Given the description of an element on the screen output the (x, y) to click on. 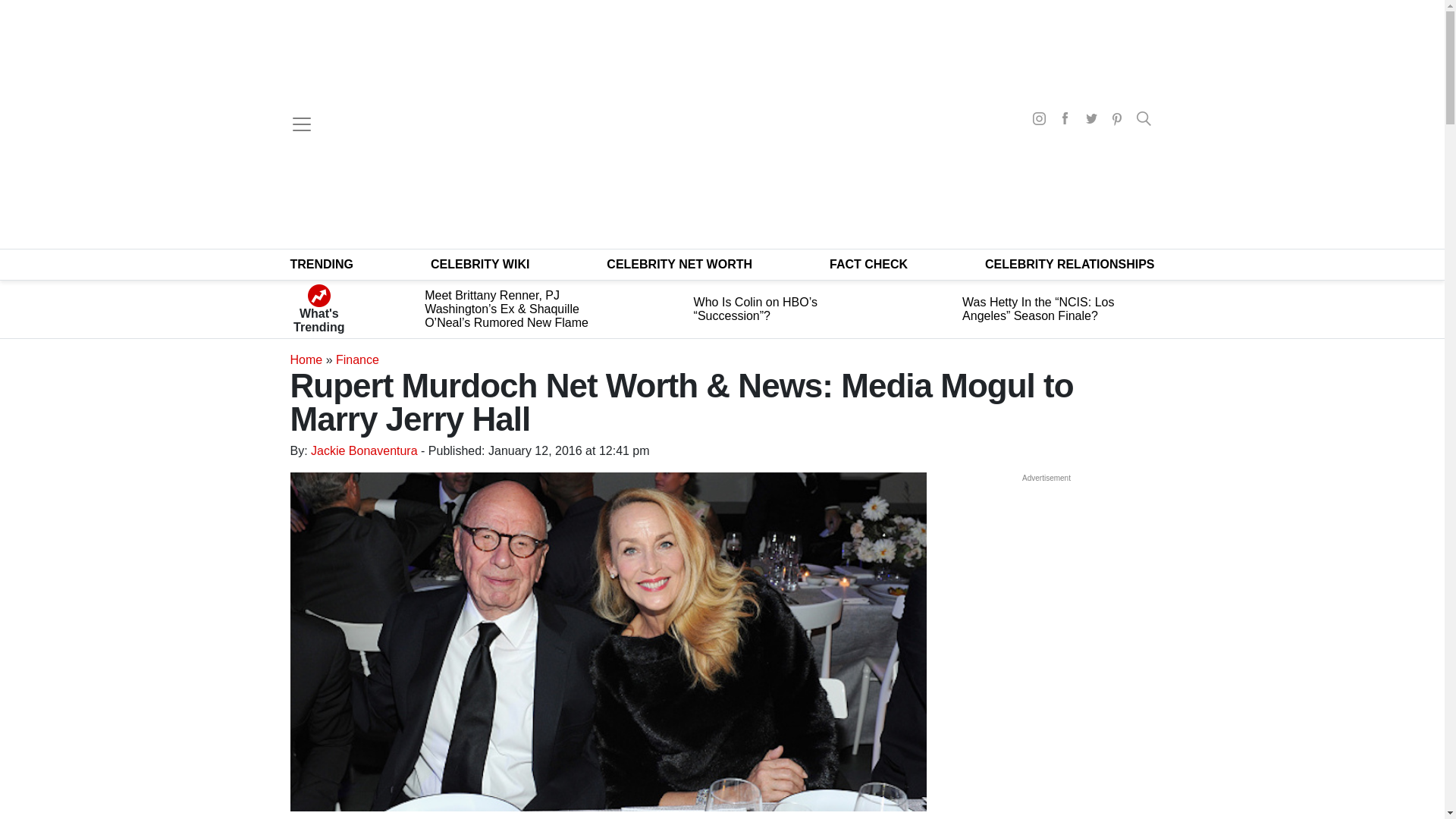
CELEBRITY RELATIONSHIPS (1069, 264)
Posts by Jackie Bonaventura (364, 450)
Home (305, 359)
CELEBRITY NET WORTH (679, 264)
Jackie Bonaventura (364, 450)
Finance (357, 359)
FACT CHECK (868, 264)
TRENDING (321, 264)
CELEBRITY WIKI (479, 264)
Menu (301, 124)
